Given the description of an element on the screen output the (x, y) to click on. 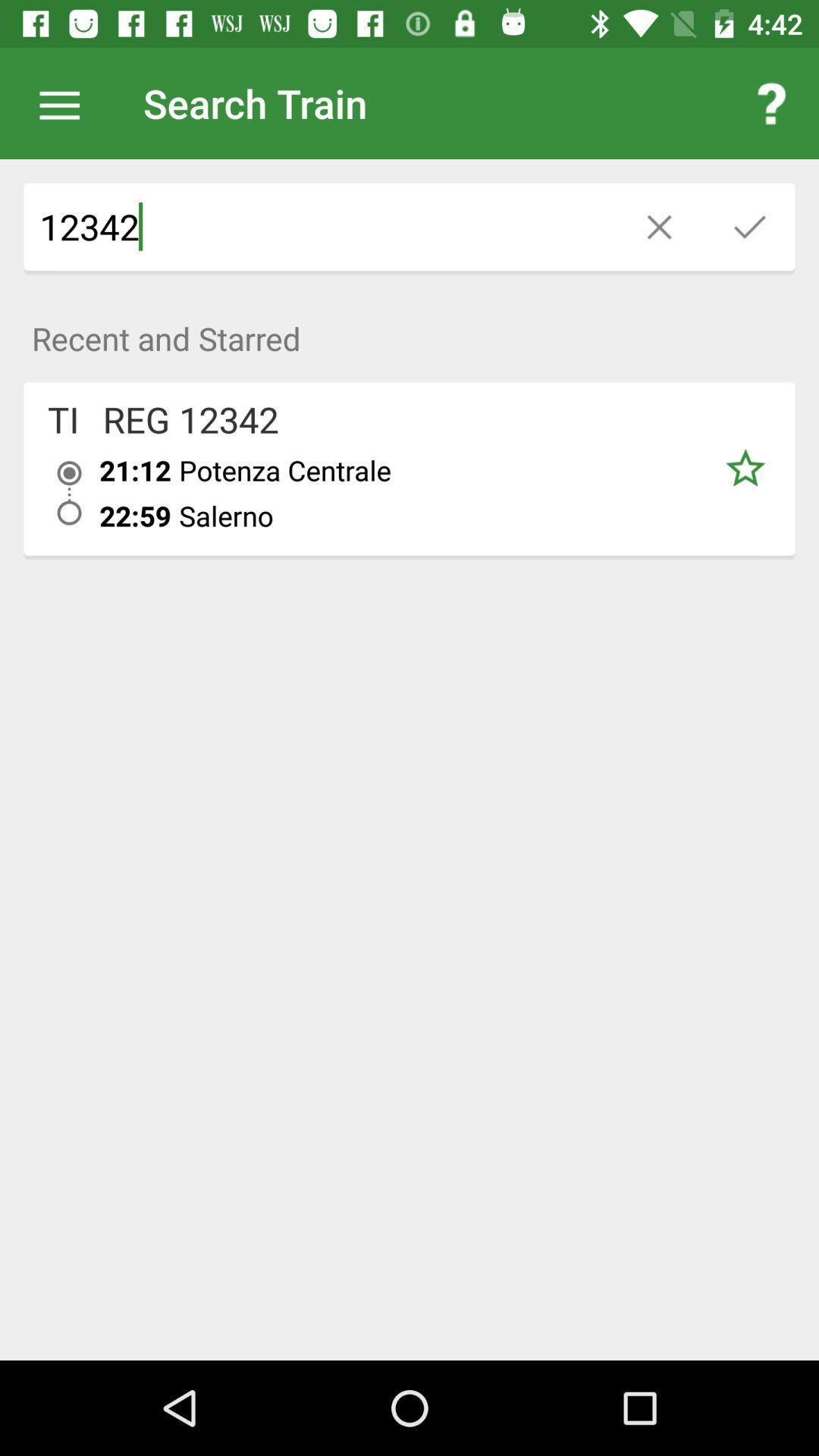
view options (67, 103)
